Given the description of an element on the screen output the (x, y) to click on. 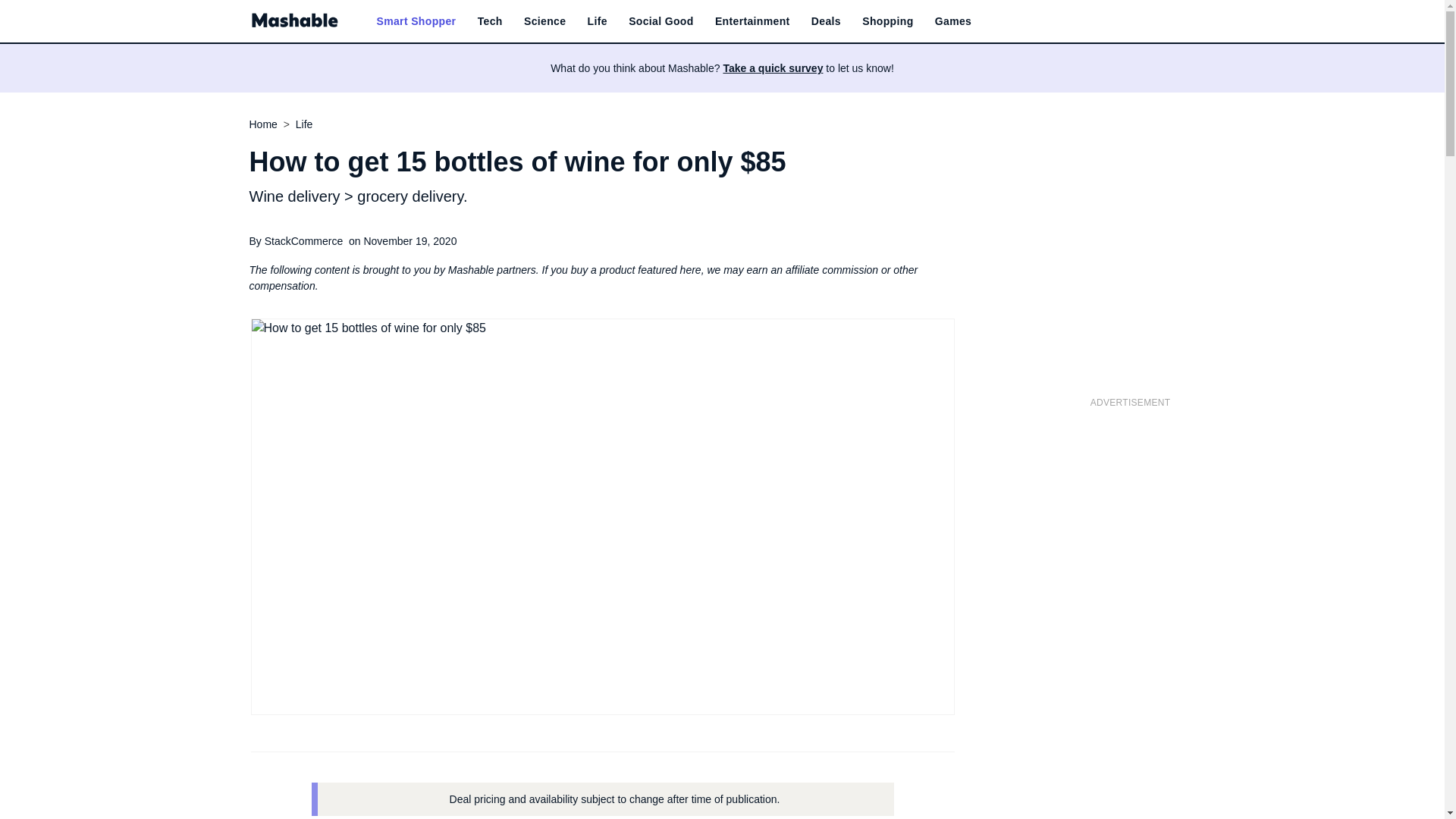
Life (597, 21)
Deals (825, 21)
Science (545, 21)
Games (952, 21)
Tech (489, 21)
Shopping (886, 21)
Social Good (661, 21)
Smart Shopper (415, 21)
Entertainment (752, 21)
